Given the description of an element on the screen output the (x, y) to click on. 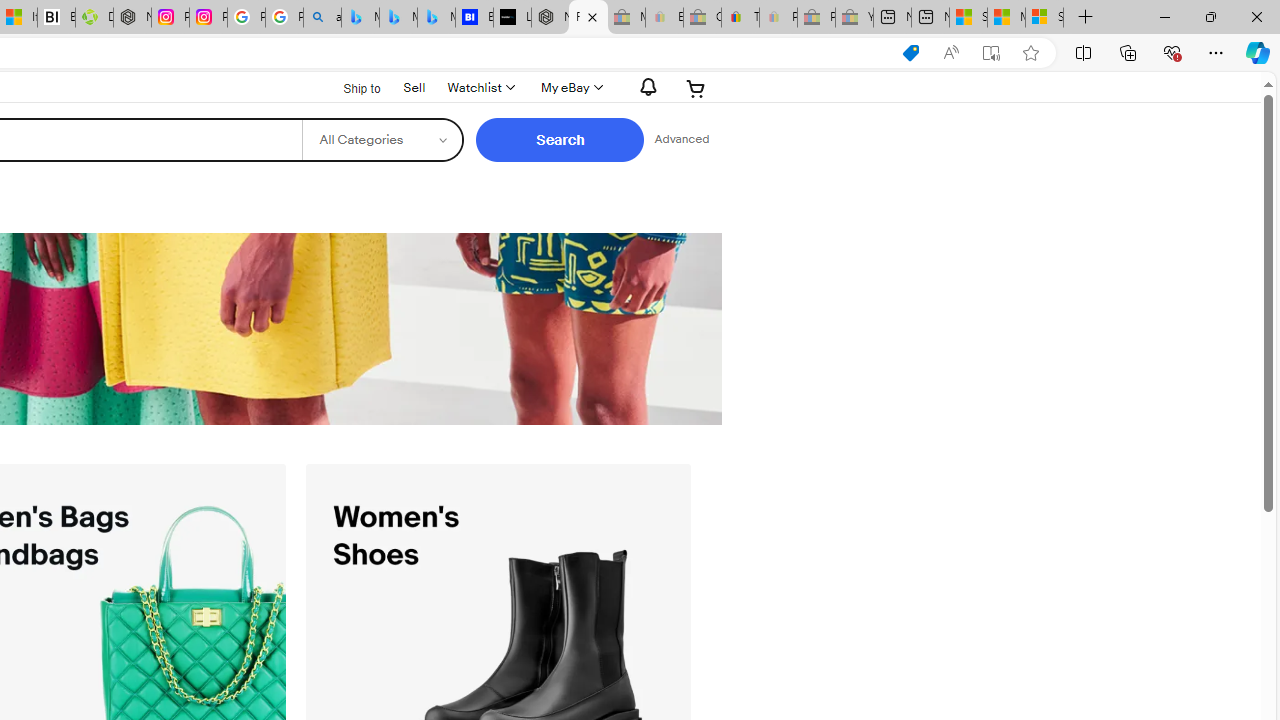
My eBayExpand My eBay (569, 88)
alabama high school quarterback dies - Search (321, 17)
Press Room - eBay Inc. - Sleeping (815, 17)
